Given the description of an element on the screen output the (x, y) to click on. 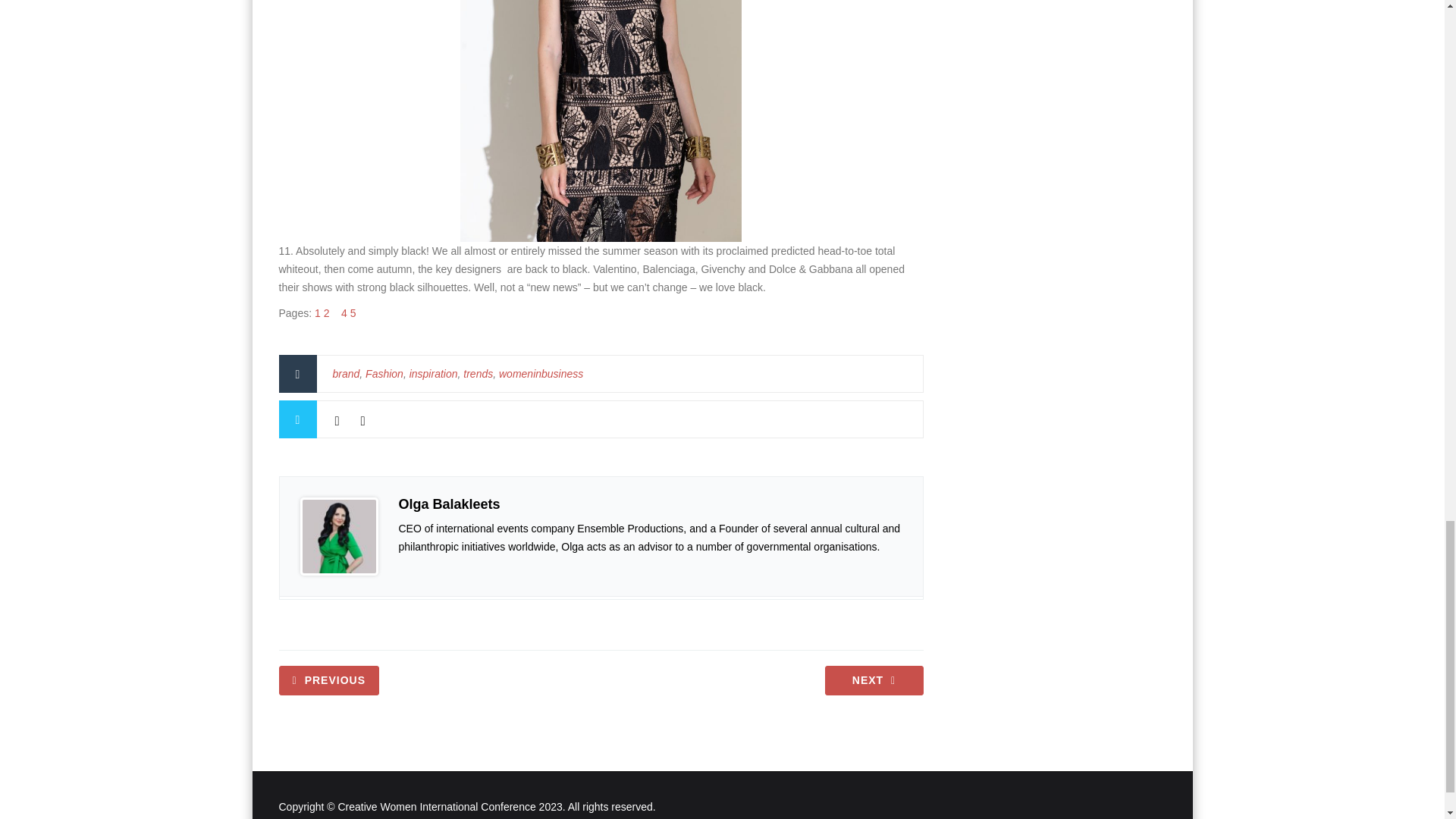
inspiration (433, 373)
brand (345, 373)
Fashion (384, 373)
womeninbusiness (541, 373)
trends (478, 373)
